Given the description of an element on the screen output the (x, y) to click on. 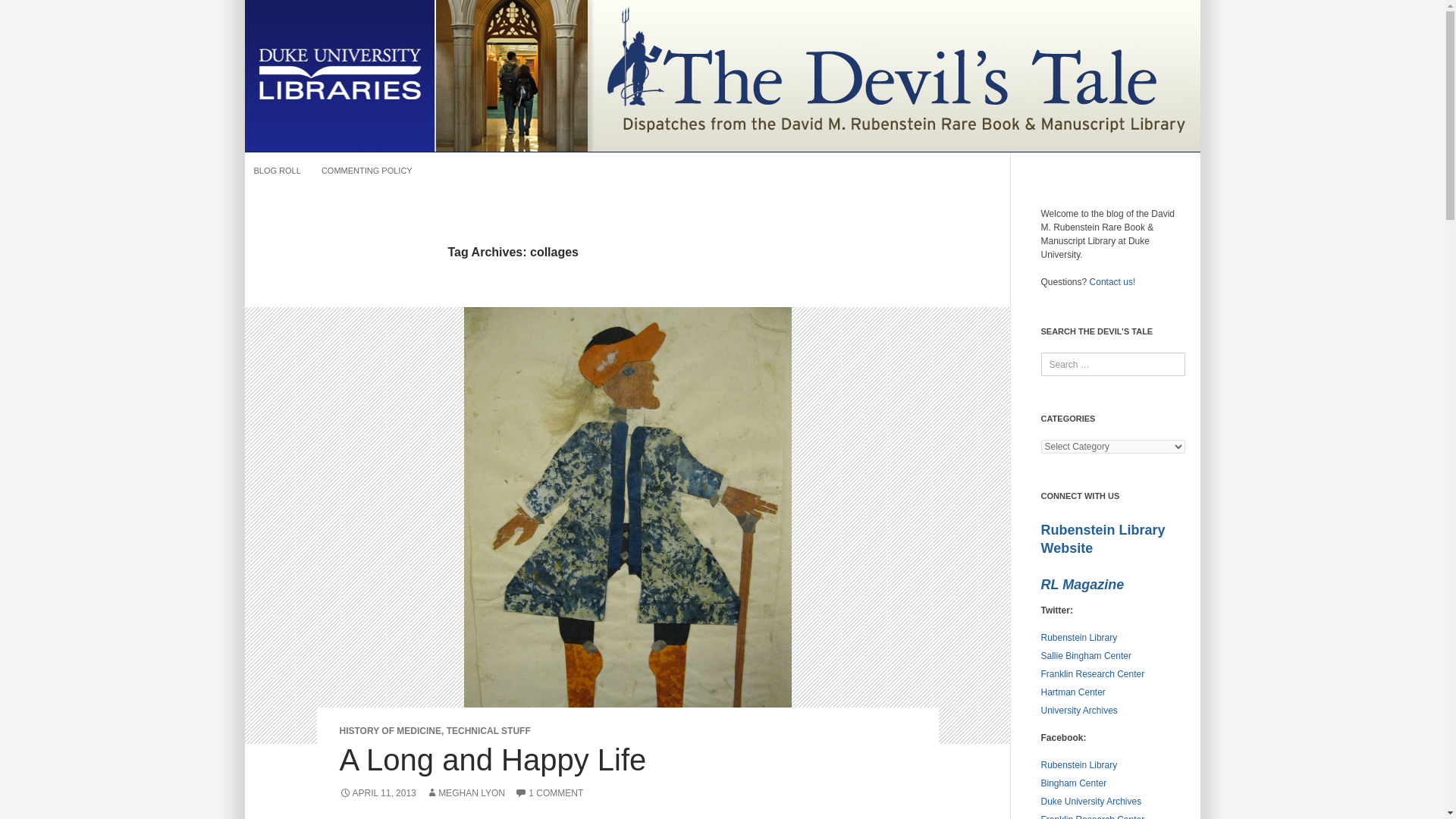
Rubenstein Library Website (1102, 539)
Duke University Libraries (338, 74)
Contact us! (1112, 281)
A Long and Happy Life (492, 759)
Duke University Archives (1091, 801)
APRIL 11, 2013 (377, 792)
HISTORY OF MEDICINE (390, 730)
TECHNICAL STUFF (488, 730)
COMMENTING POLICY (367, 170)
BLOG ROLL (276, 170)
1 COMMENT (549, 792)
Rubenstein Library (1078, 637)
Search (27, 11)
Sallie Bingham Center (1086, 655)
